Given the description of an element on the screen output the (x, y) to click on. 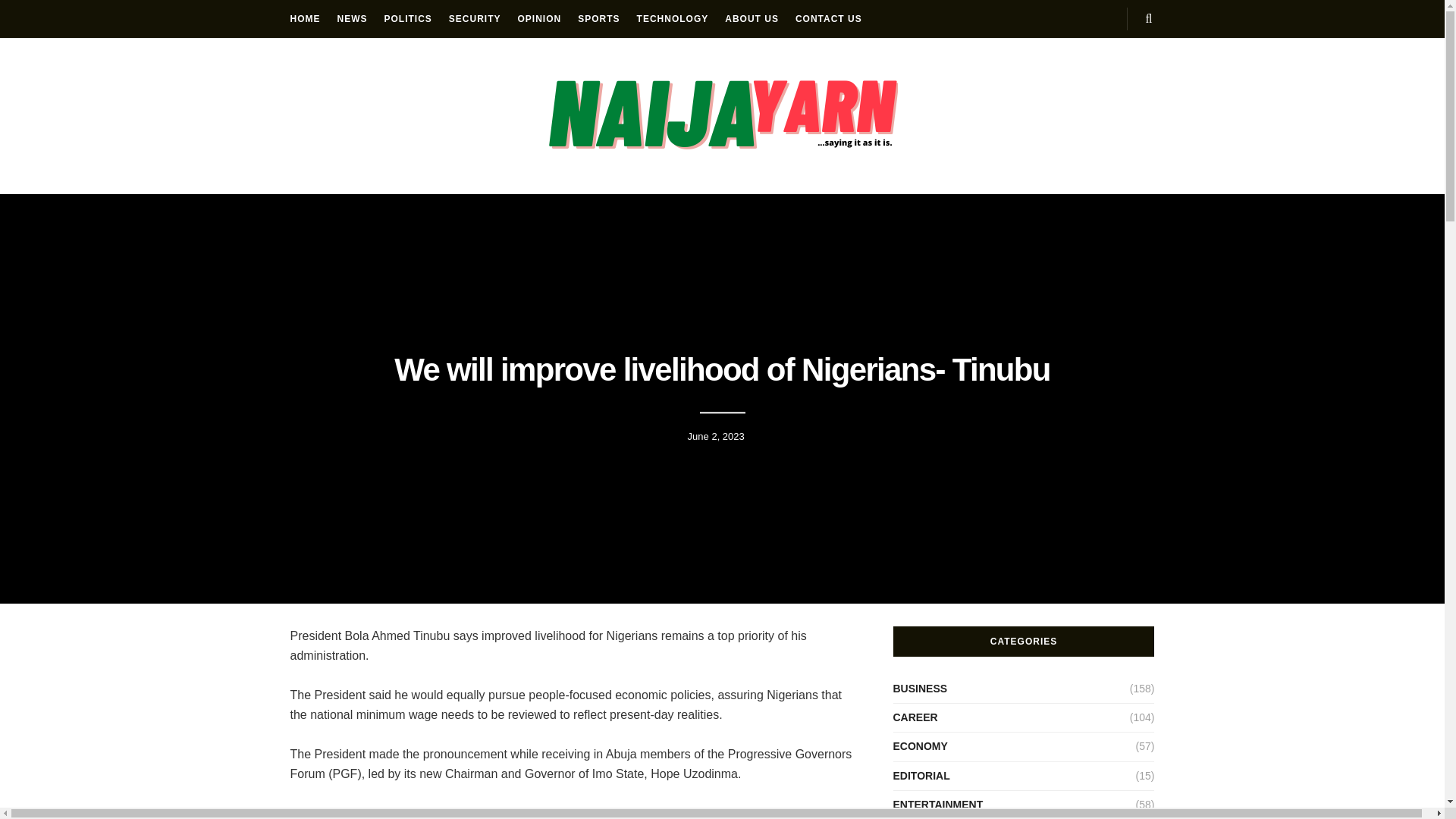
POLITICS (407, 18)
OPINION (540, 18)
SPORTS (599, 18)
TECHNOLOGY (673, 18)
CONTACT US (827, 18)
SECURITY (474, 18)
ABOUT US (751, 18)
